Given the description of an element on the screen output the (x, y) to click on. 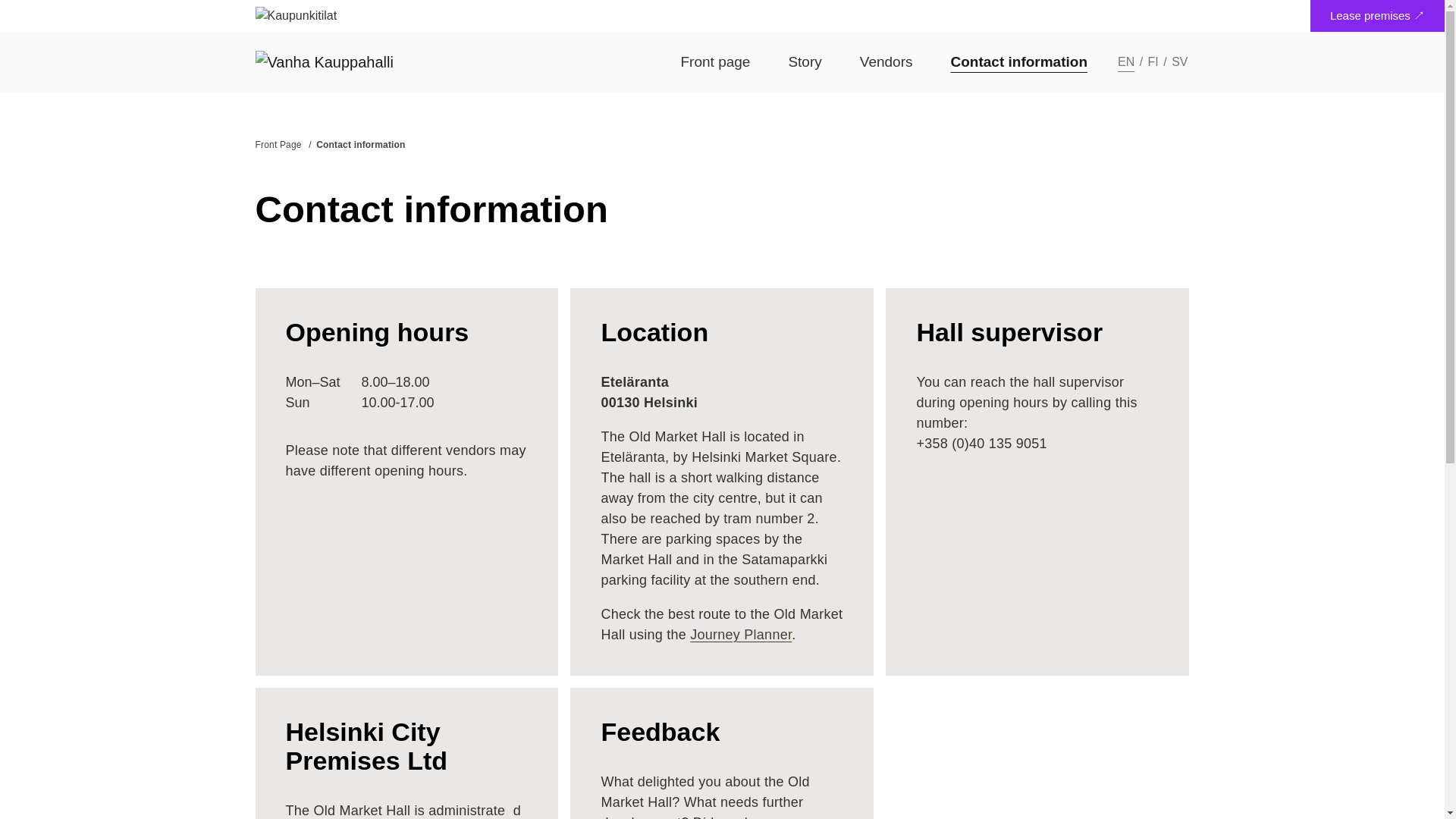
Vendors (1179, 61)
Front Page (1155, 61)
Journey Planner (885, 62)
Story (277, 144)
Front page (741, 634)
Contact information (804, 62)
